Given the description of an element on the screen output the (x, y) to click on. 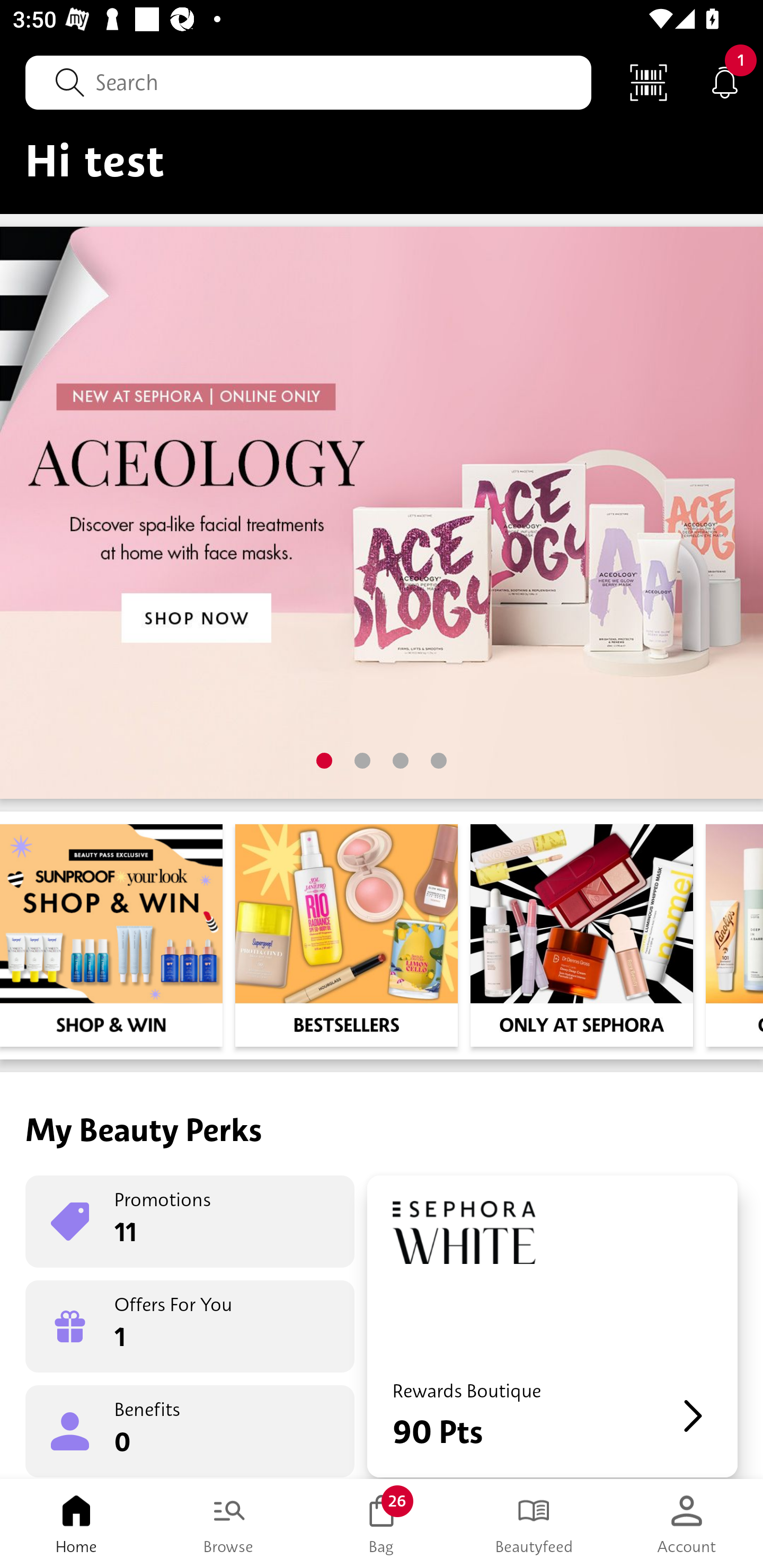
Scan Code (648, 81)
Notifications (724, 81)
Search (308, 81)
Promotions 11 (189, 1221)
Rewards Boutique 90 Pts (552, 1326)
Offers For You 1 (189, 1326)
Benefits 0 (189, 1430)
Browse (228, 1523)
Bag 26 Bag (381, 1523)
Beautyfeed (533, 1523)
Account (686, 1523)
